Given the description of an element on the screen output the (x, y) to click on. 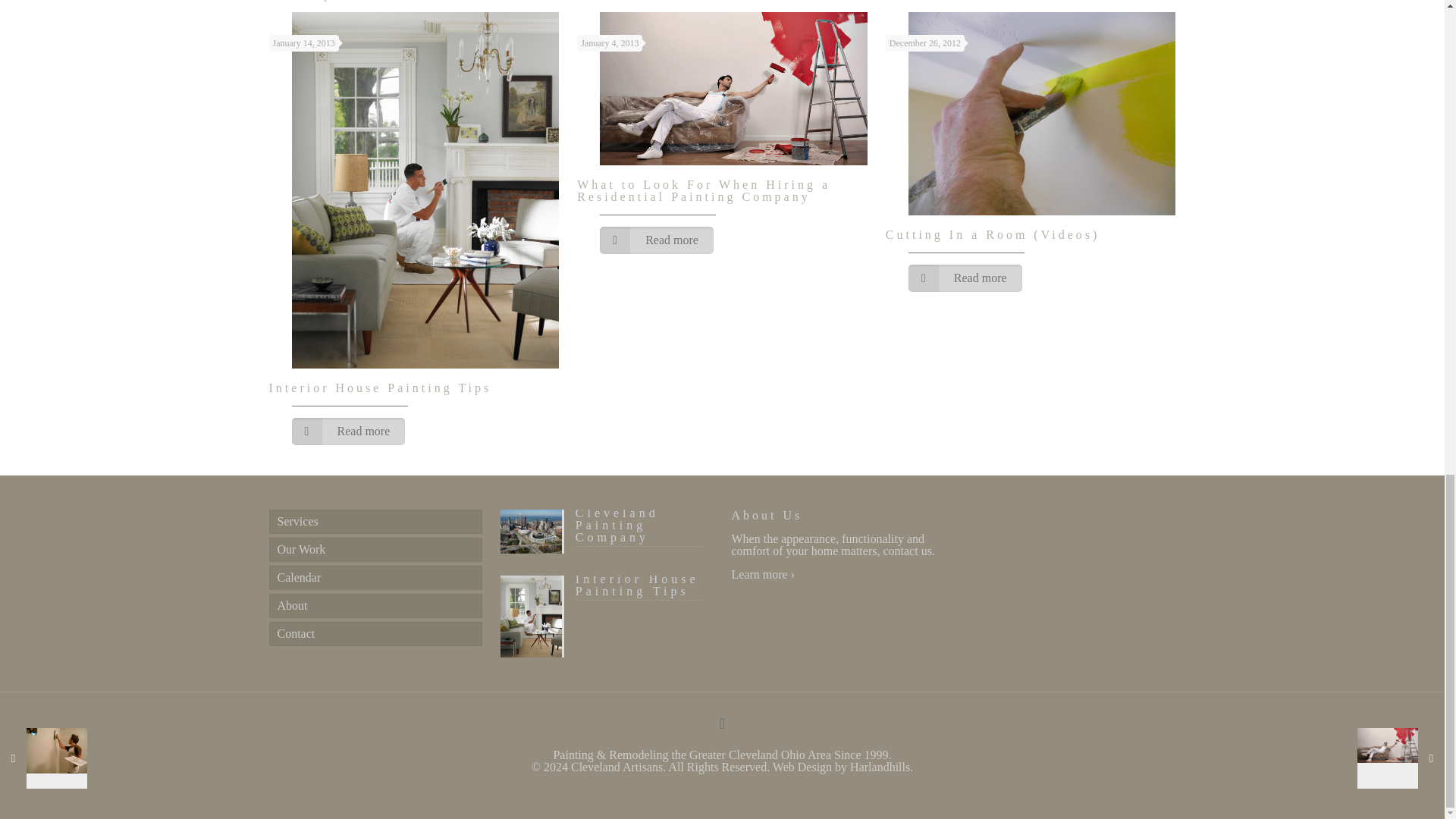
Interior House Painting Tips (379, 387)
Cleveland Painting Company (606, 533)
Our Work (374, 549)
Read more (347, 431)
Calendar (374, 577)
Contact (374, 633)
What to Look For When Hiring a Residential Painting Company (702, 190)
Cleveland Artisans (616, 766)
Read more (656, 239)
Read more (965, 277)
About (374, 605)
Interior House Painting Tips (606, 599)
Services (374, 521)
